Given the description of an element on the screen output the (x, y) to click on. 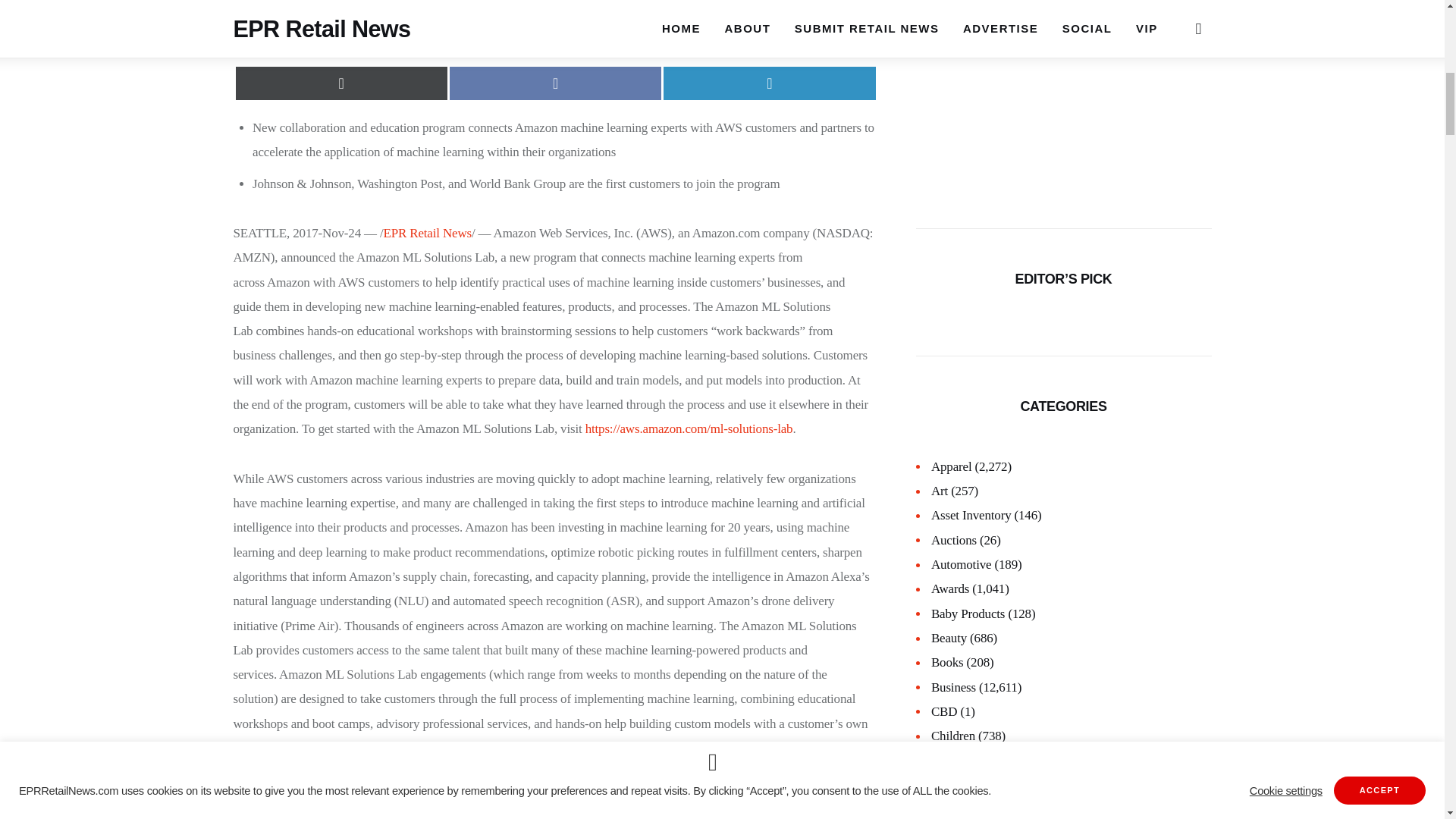
Advertisement (554, 25)
